Given the description of an element on the screen output the (x, y) to click on. 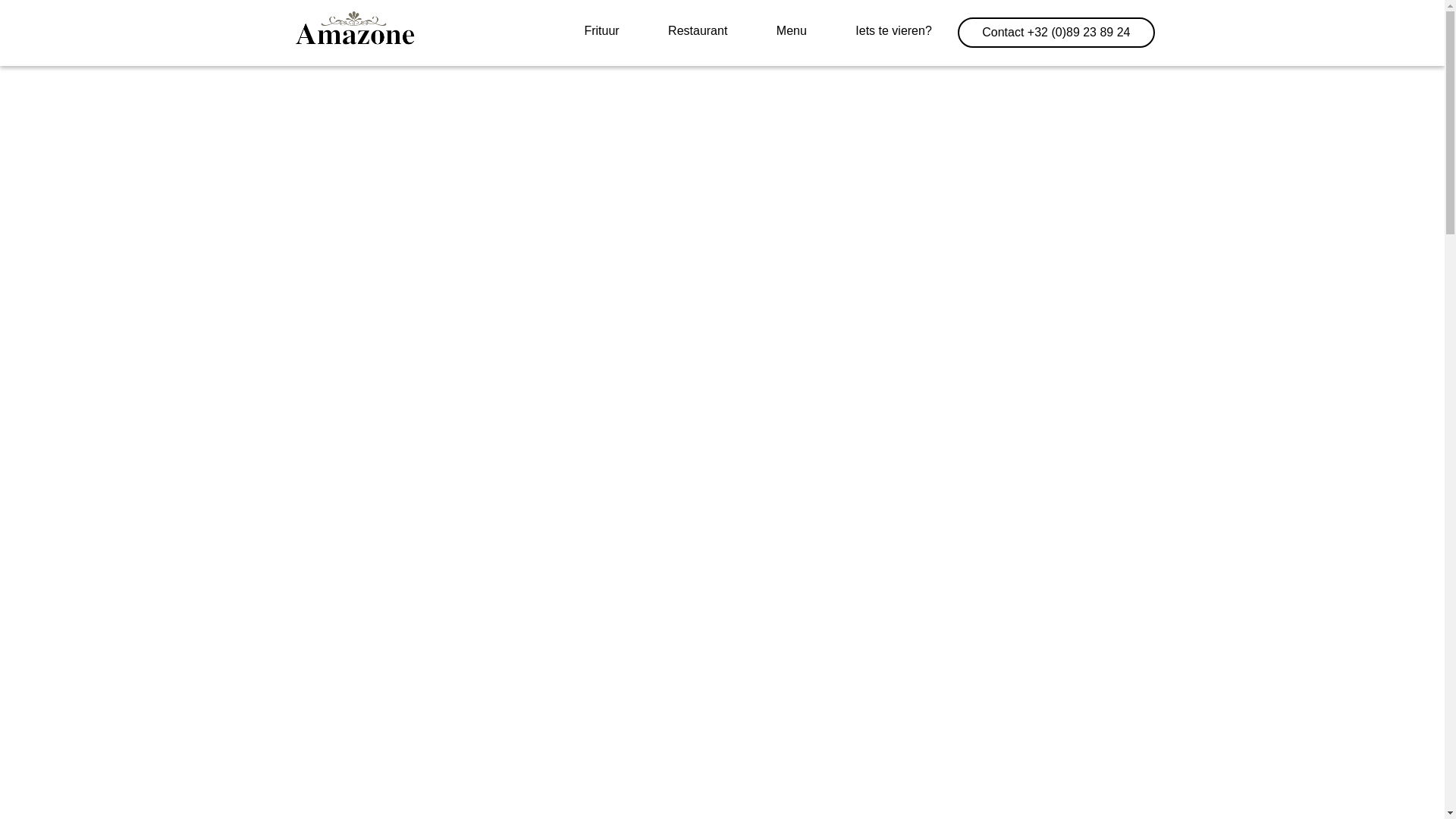
Iets te vieren? Element type: text (893, 31)
Frituur Element type: text (600, 31)
Contact +32 (0)89 23 89 24 Element type: text (1055, 32)
Restaurant Element type: text (697, 31)
Menu Element type: text (791, 31)
